Given the description of an element on the screen output the (x, y) to click on. 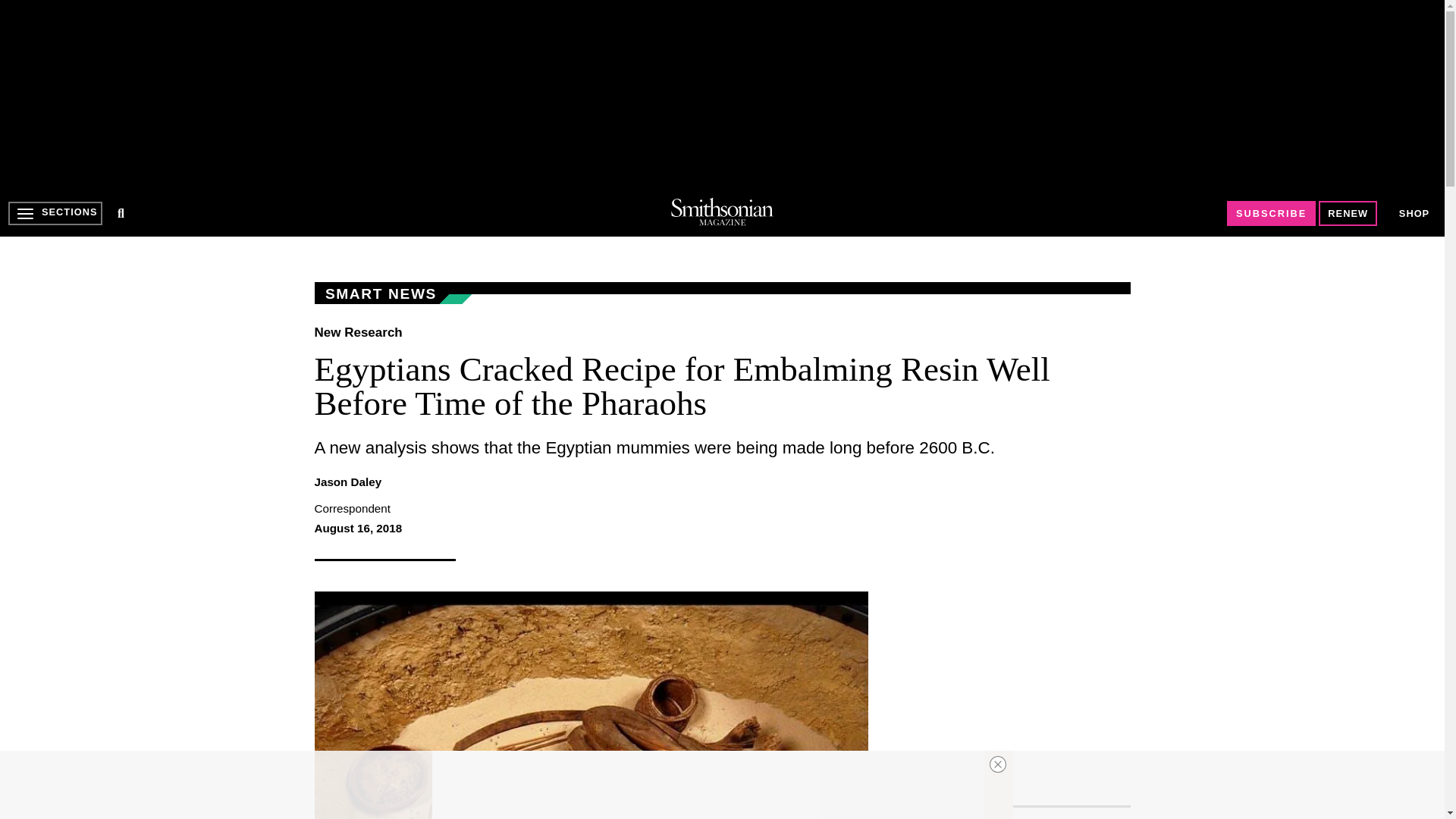
SECTIONS (55, 213)
3rd party ad content (1015, 686)
SHOP (1414, 213)
3rd party ad content (721, 94)
3rd party ad content (708, 785)
SHOP (1413, 212)
SUBSCRIBE (1271, 212)
SUBSCRIBE (1271, 213)
RENEW (1347, 212)
RENEW (1348, 213)
